Given the description of an element on the screen output the (x, y) to click on. 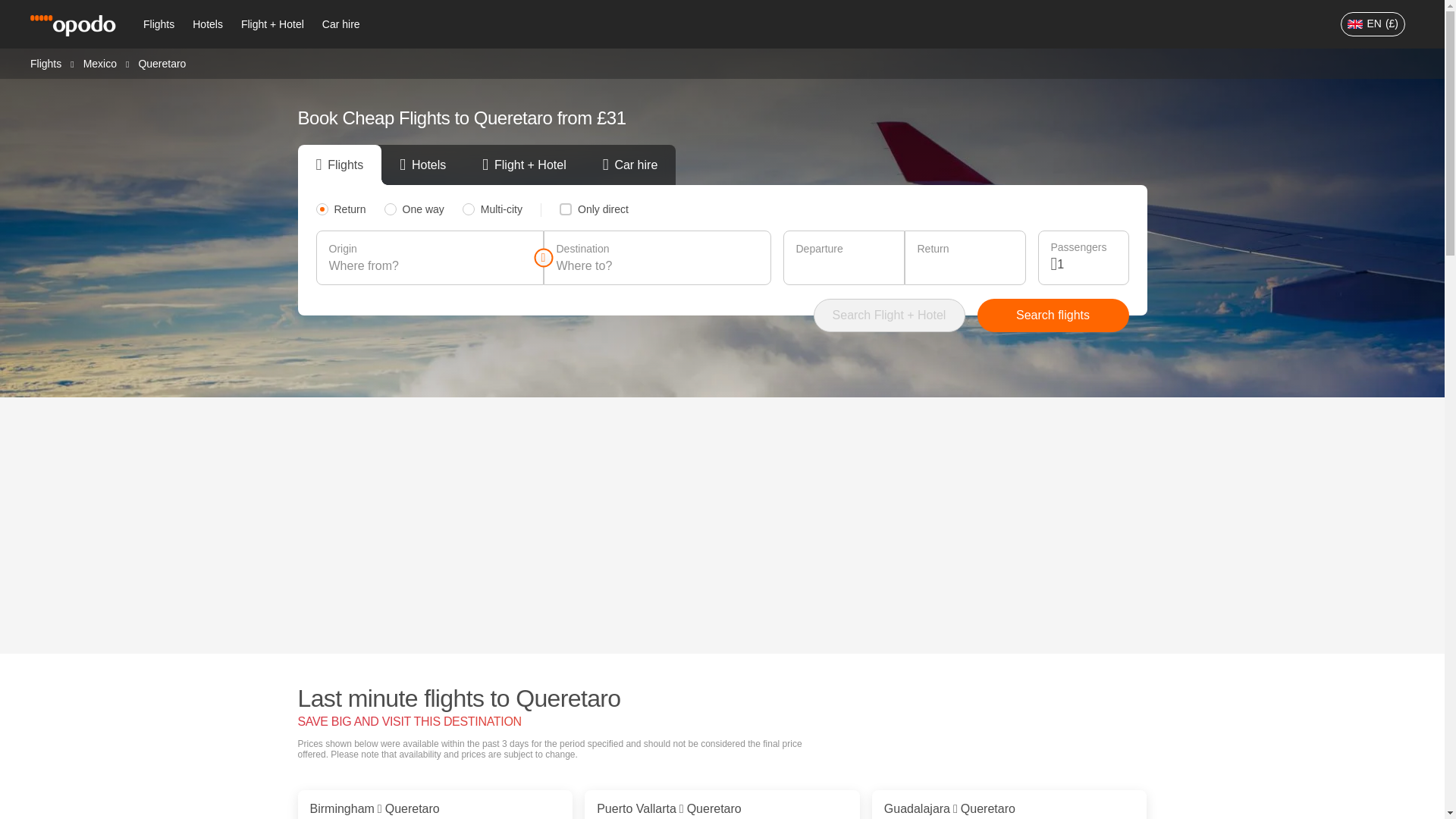
Flights (45, 62)
Search flights (1052, 315)
Hotels (207, 24)
Queretaro (162, 63)
Mexico (99, 62)
Car hire (341, 24)
Flights (158, 24)
1 (1086, 263)
